Given the description of an element on the screen output the (x, y) to click on. 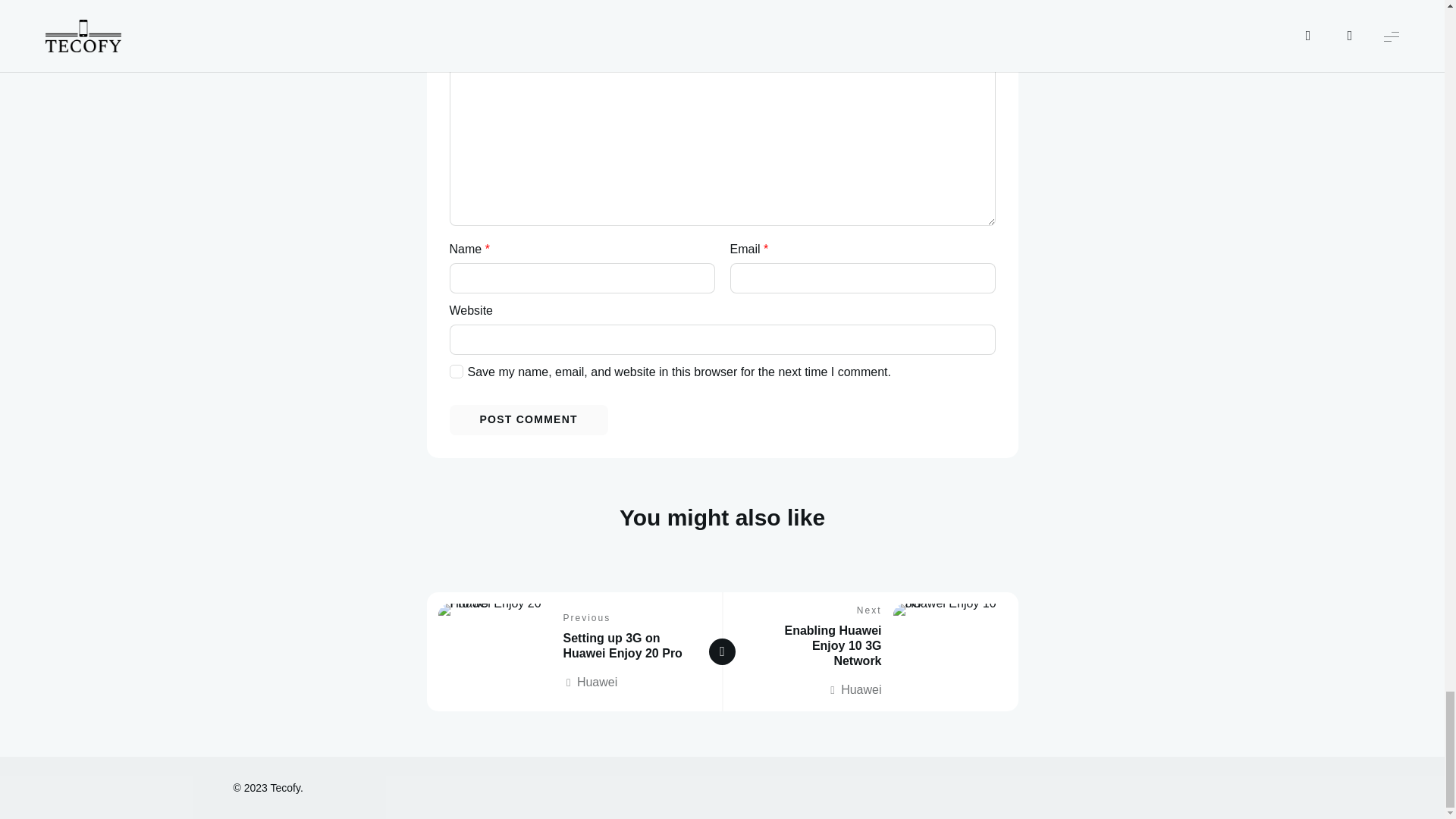
Setting up 3G on Huawei Enjoy 20 Pro (621, 645)
Post Comment (527, 419)
Post Comment (527, 419)
yes (455, 371)
Huawei (589, 682)
Huawei (589, 682)
Huawei (854, 690)
Enabling Huawei Enjoy 10 3G Network (832, 645)
Huawei (854, 690)
